Given the description of an element on the screen output the (x, y) to click on. 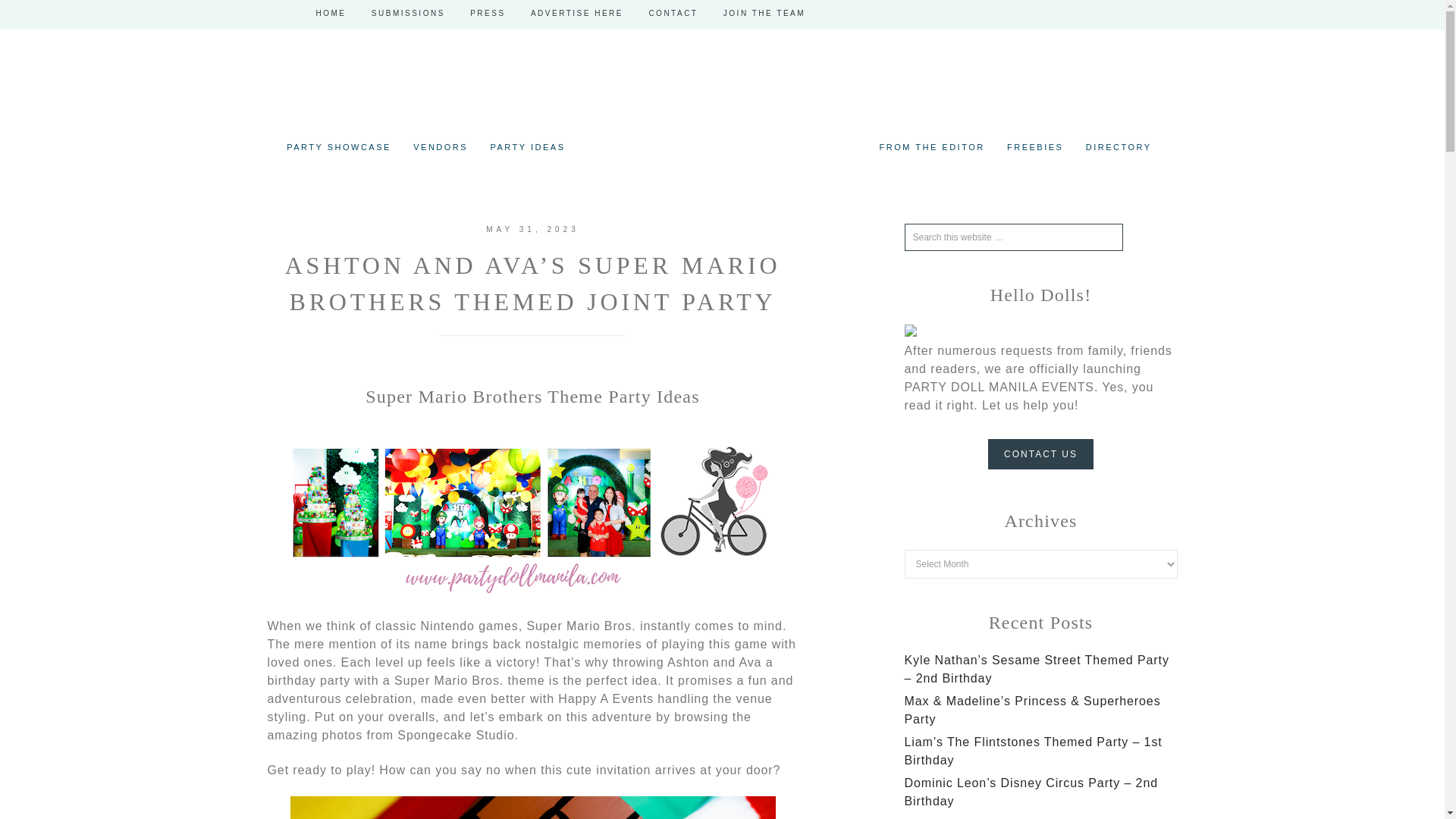
FROM THE EDITOR (932, 146)
VENDORS (440, 146)
ADVERTISE HERE (576, 13)
PARTY SHOWCASE (339, 146)
HOME (330, 13)
PARTY IDEAS (526, 146)
poster.pdm (531, 590)
PRESS (487, 13)
DIRECTORY (1118, 146)
SUBMISSIONS (408, 13)
